Given the description of an element on the screen output the (x, y) to click on. 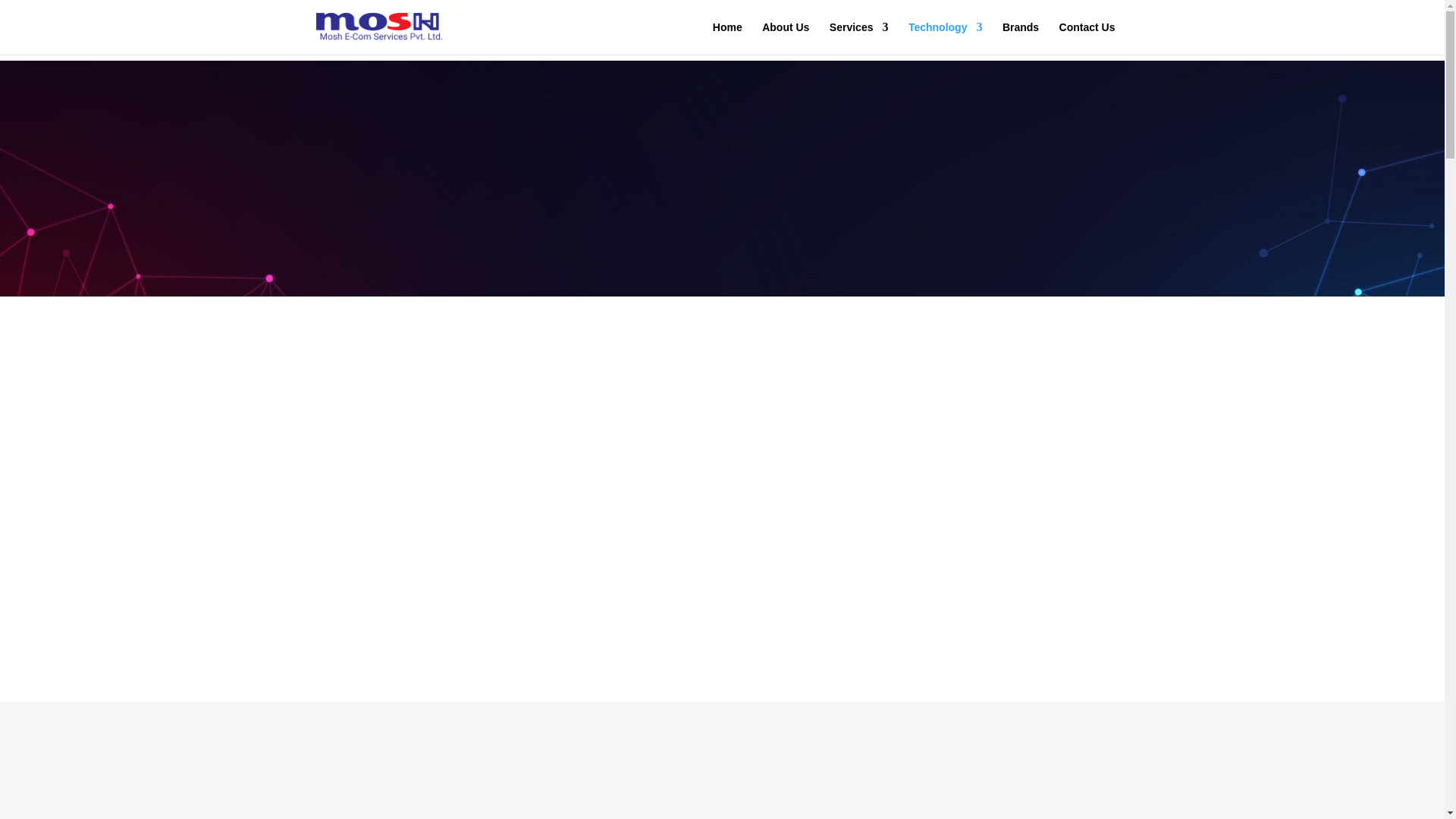
Brands (1021, 38)
About Us (785, 38)
Contact Us (1087, 38)
Home (727, 38)
Technology (945, 38)
Services (858, 38)
